Given the description of an element on the screen output the (x, y) to click on. 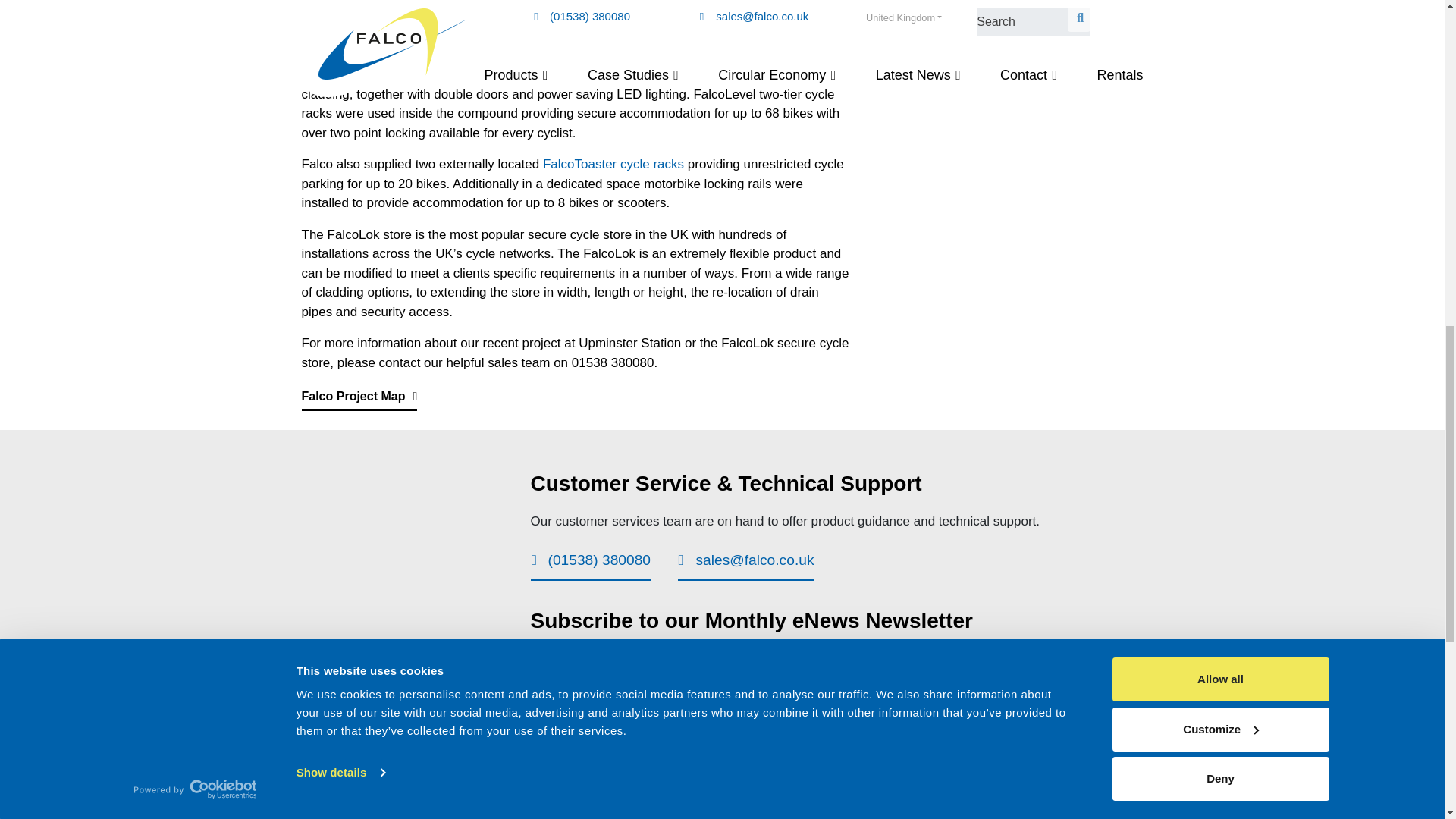
FalcoToaster Cycle Rack (613, 164)
